Given the description of an element on the screen output the (x, y) to click on. 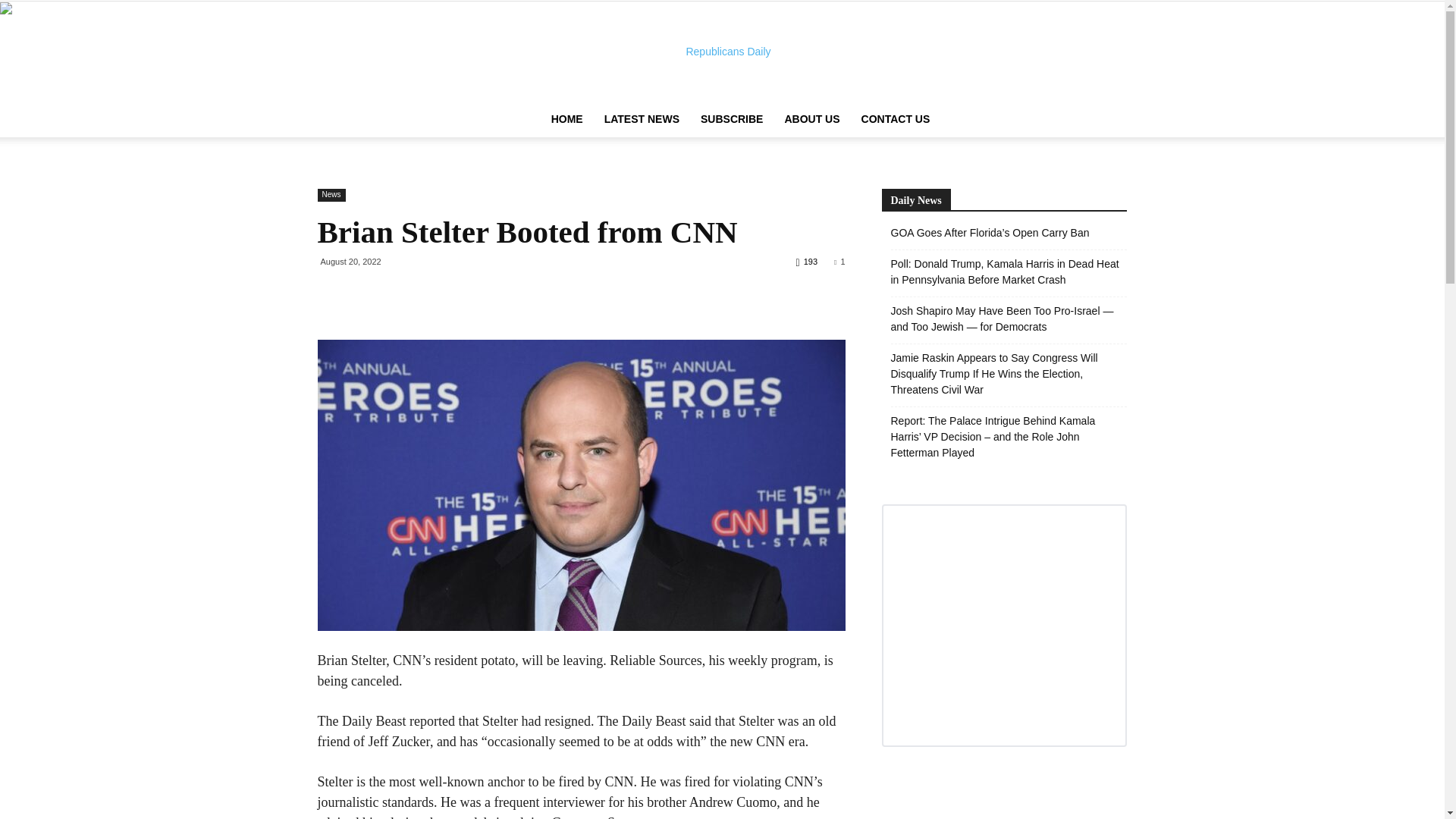
LATEST NEWS (642, 118)
ABOUT US (811, 118)
SUBSCRIBE (731, 118)
1 (839, 261)
HOME (567, 118)
CONTACT US (895, 118)
News (331, 195)
